Given the description of an element on the screen output the (x, y) to click on. 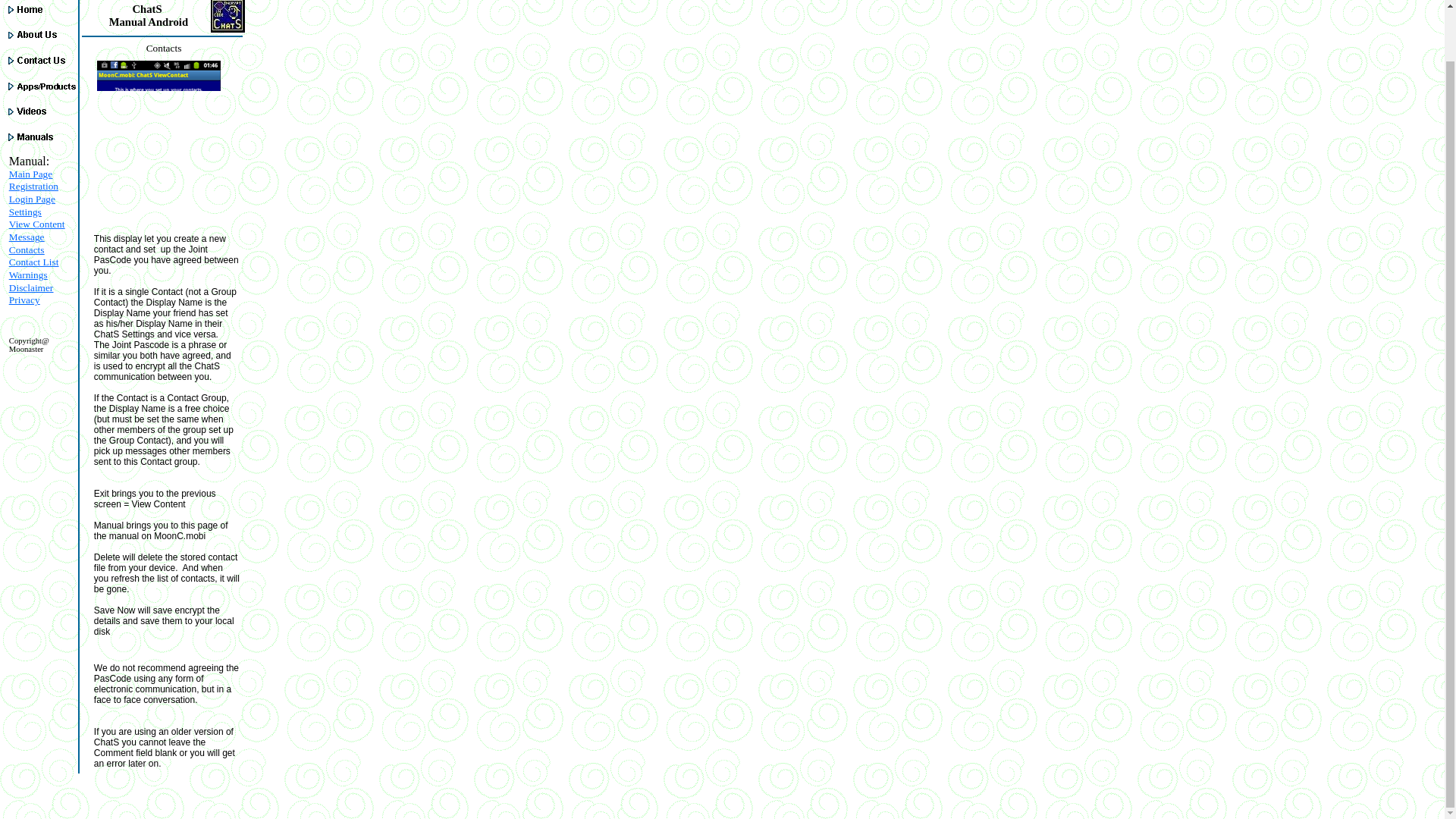
Message (26, 236)
View Content (36, 224)
Privacy (24, 299)
Disclaimer (30, 287)
Warnings (28, 274)
Contacts (26, 249)
Main Page (30, 173)
Registration (33, 185)
Settings (25, 211)
Contact List (33, 261)
